Given the description of an element on the screen output the (x, y) to click on. 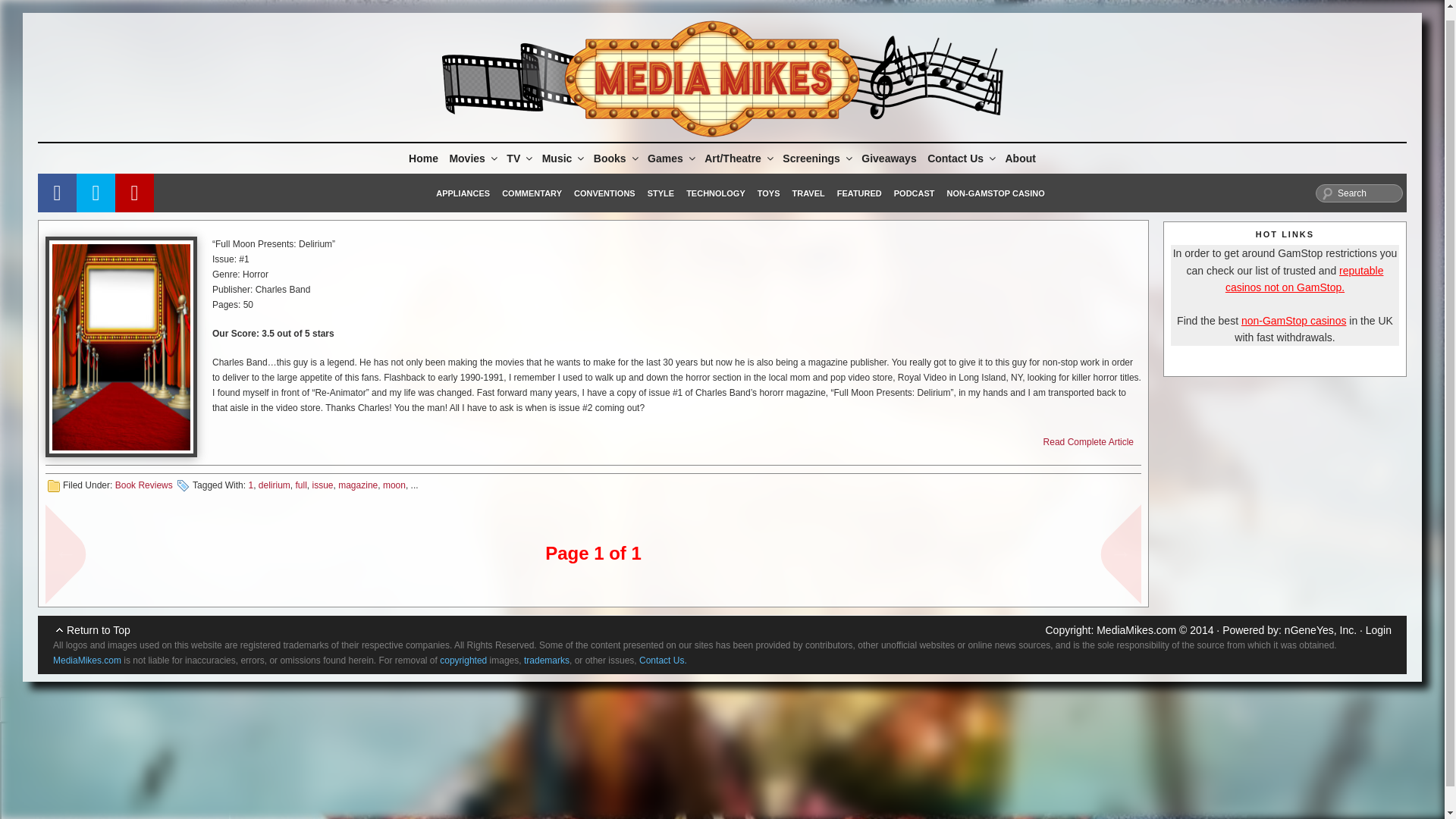
nGeneYes, Inc. (1320, 630)
copyright (462, 660)
Home (423, 158)
gamstop (1304, 278)
Movies (472, 158)
TV (518, 158)
Contact Us (86, 660)
Search (1359, 193)
Music (562, 158)
gamstop (1293, 320)
Books (614, 158)
Media Mikes (1136, 630)
trademark (546, 660)
Games (670, 158)
